Given the description of an element on the screen output the (x, y) to click on. 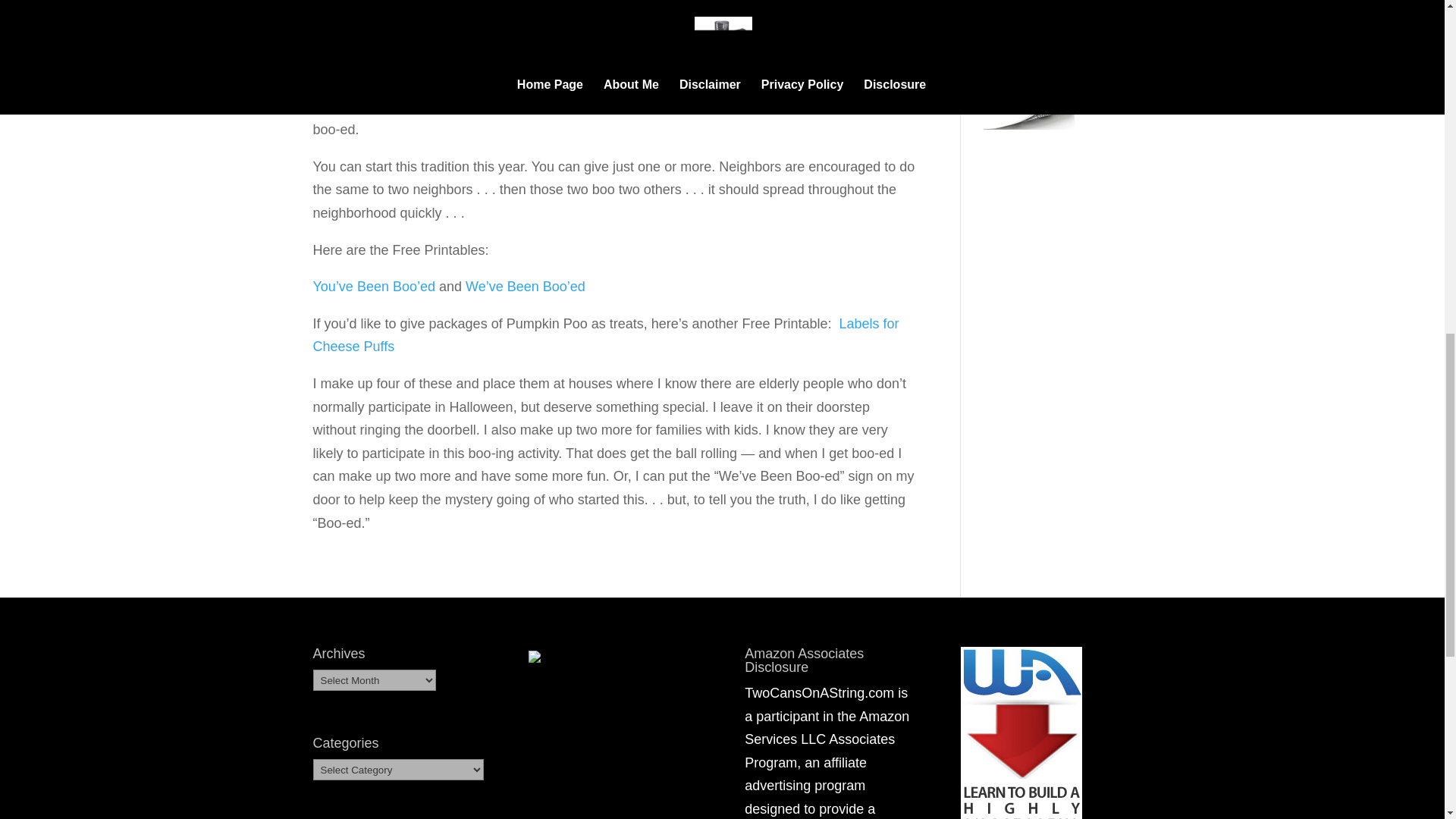
Labels for Cheese Puffs (605, 335)
Labels for Cheese Puffs (605, 335)
You've Been Boo'ed (373, 286)
We've Been Boo'ed (525, 286)
